Given the description of an element on the screen output the (x, y) to click on. 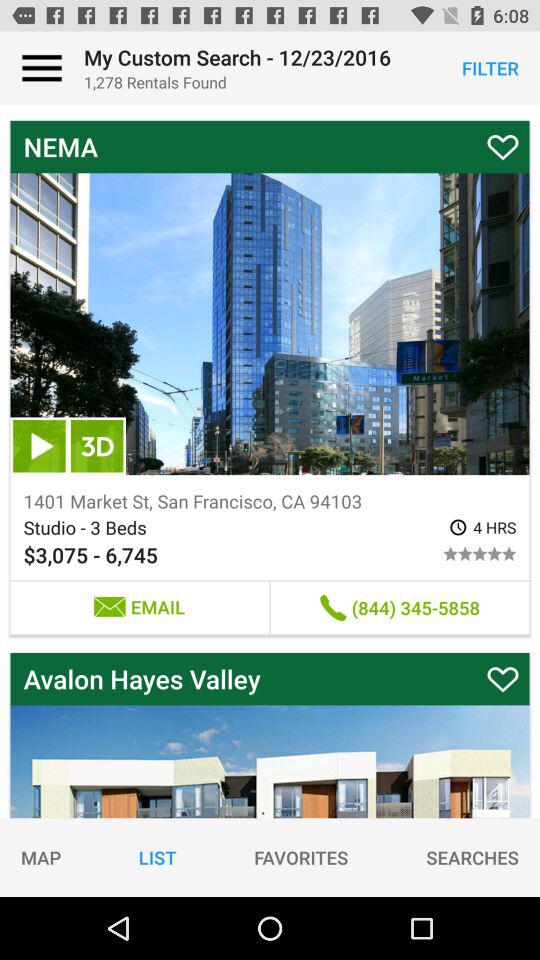
tap the icon to the right of the favorites icon (472, 857)
